Given the description of an element on the screen output the (x, y) to click on. 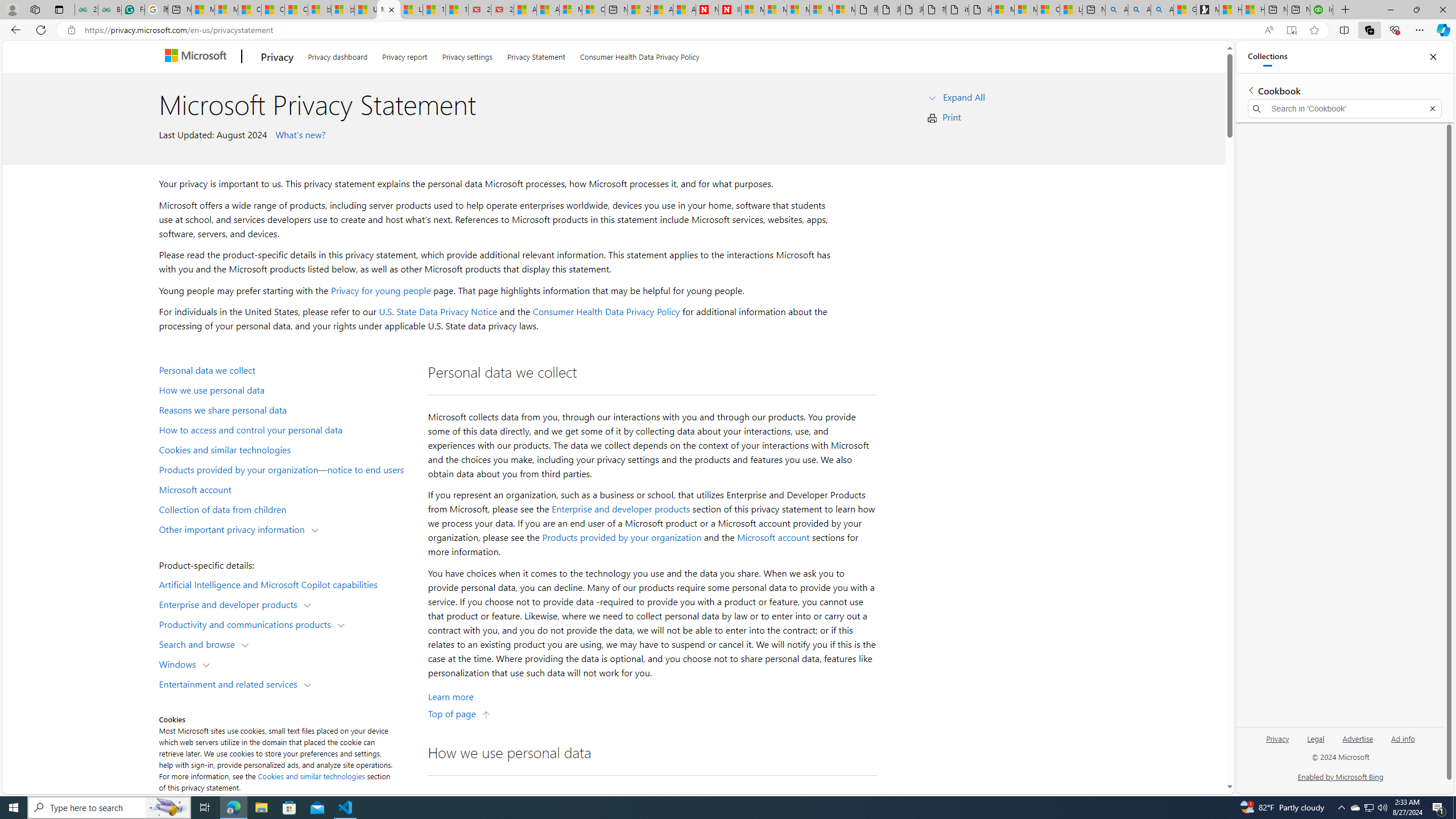
 What's new? (299, 133)
15 Ways Modern Life Contradicts the Teachings of Jesus (457, 9)
Enterprise and developer products (620, 508)
Back to list of collections (1250, 90)
Enterprise and developer products (230, 603)
Alabama high school quarterback dies - Search (1116, 9)
Products provided by your organization (621, 537)
